Given the description of an element on the screen output the (x, y) to click on. 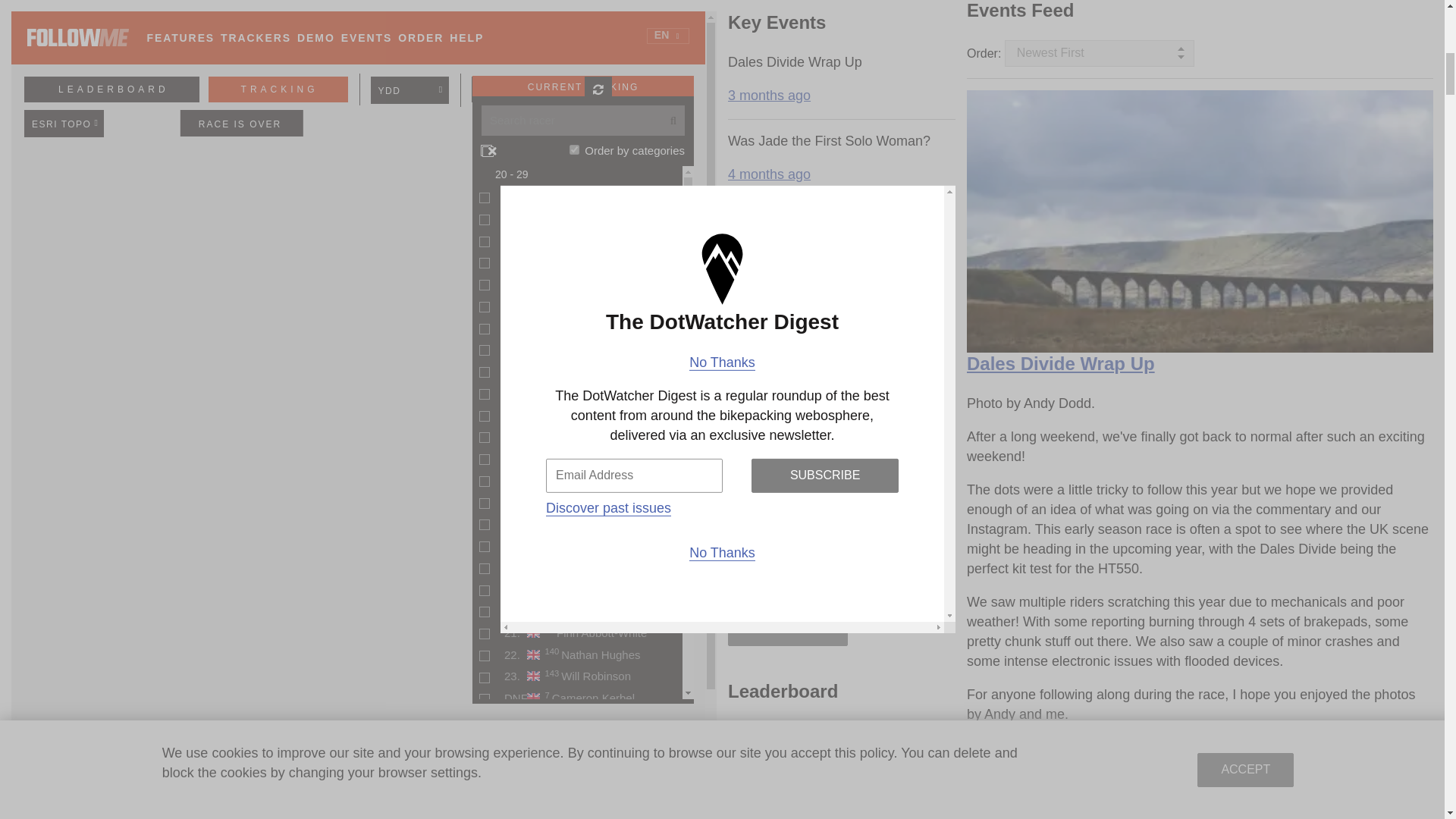
Share (1332, 787)
Apr 4th 2024, 23:59 (1020, 792)
Dales Divide Wrap Up (1060, 362)
Tracking Tips (363, 757)
Tweet (1406, 787)
4 months ago (769, 339)
4 months ago (769, 260)
4 months ago (769, 575)
4 months ago (769, 497)
Dales Divide Wrap Up (1199, 221)
3 months ago (769, 83)
4 months ago (769, 418)
LOAD MORE (787, 616)
Tracking Tips (363, 757)
